Given the description of an element on the screen output the (x, y) to click on. 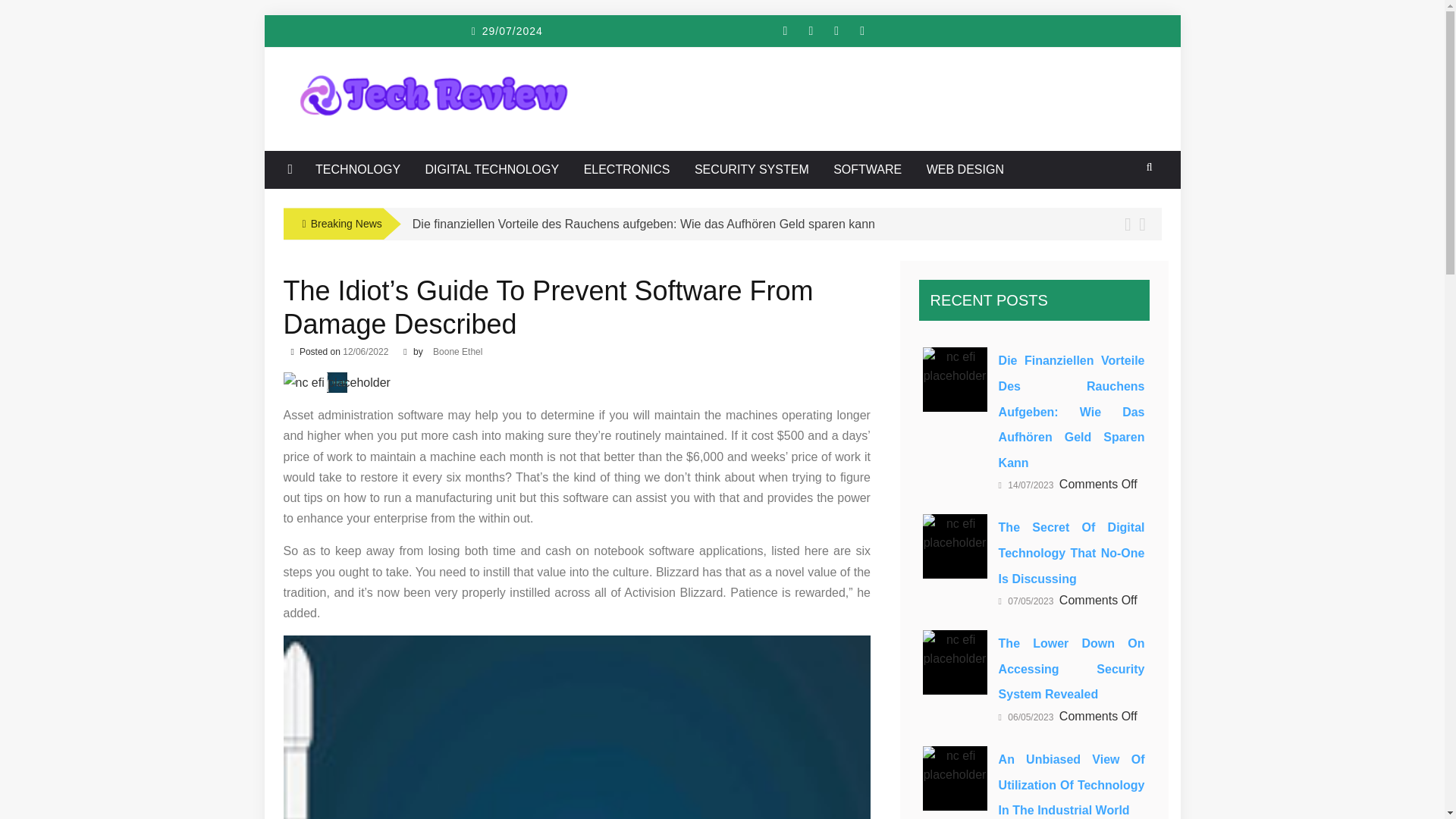
The Idiot's Guide To Prevent Software From Damage Described (576, 727)
DIGITAL TECHNOLOGY (491, 169)
SECURITY SYSTEM (751, 169)
TECH REVIEW (387, 95)
SOFTWARE (867, 169)
TECHNOLOGY (358, 169)
The Secret of digital technology That No-one is Discussing (955, 546)
The Idiot's Guide To Prevent Software From Damage Described (336, 382)
WEB DESIGN (964, 169)
Boone Ethel (456, 351)
ELECTRONICS (626, 169)
The Lower Down on Accessing Security System Revealed (955, 661)
